Given the description of an element on the screen output the (x, y) to click on. 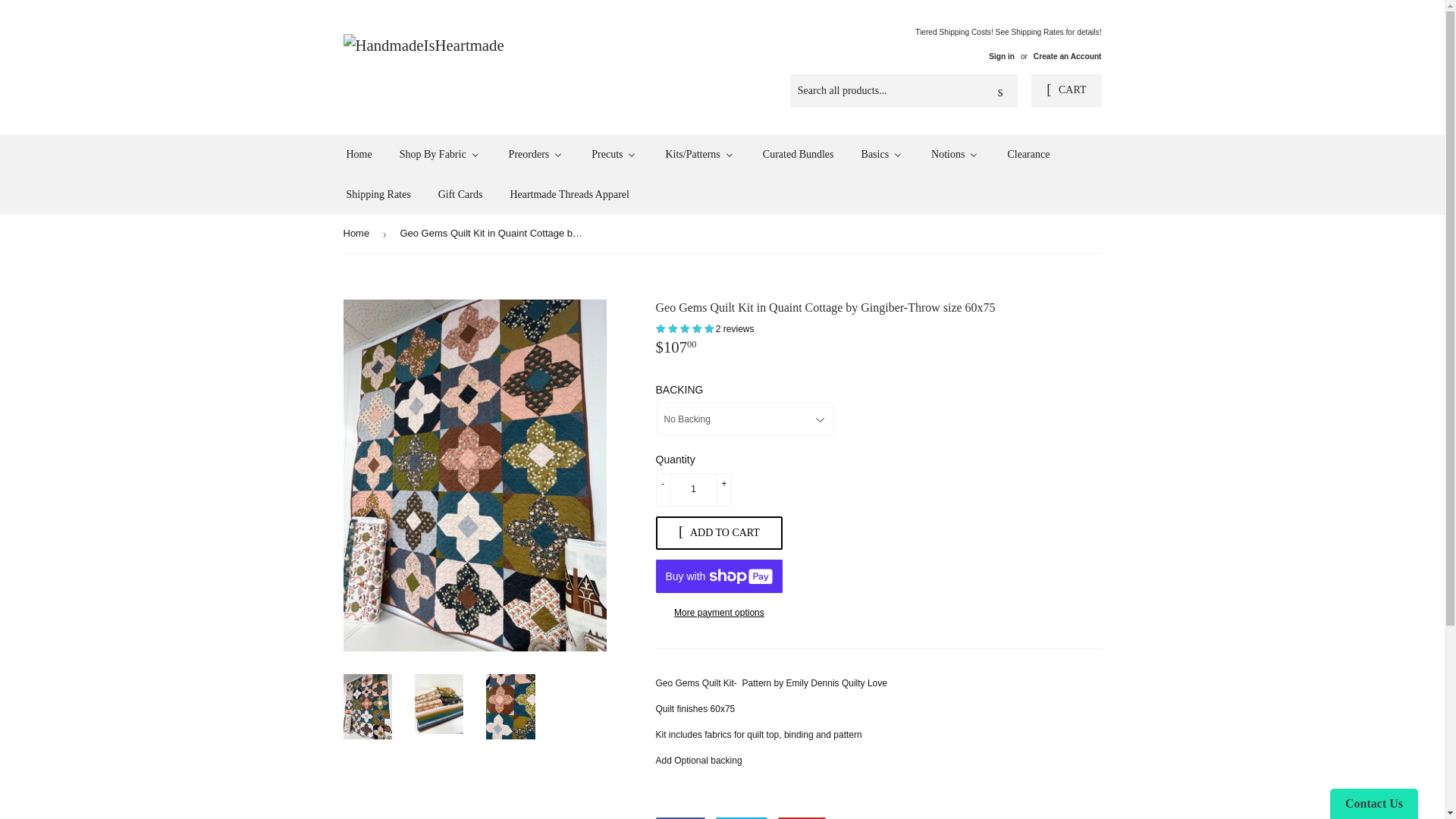
CART (1065, 90)
Sign in (1001, 56)
Create an Account (1067, 56)
1 (692, 489)
Search (1000, 91)
